Given the description of an element on the screen output the (x, y) to click on. 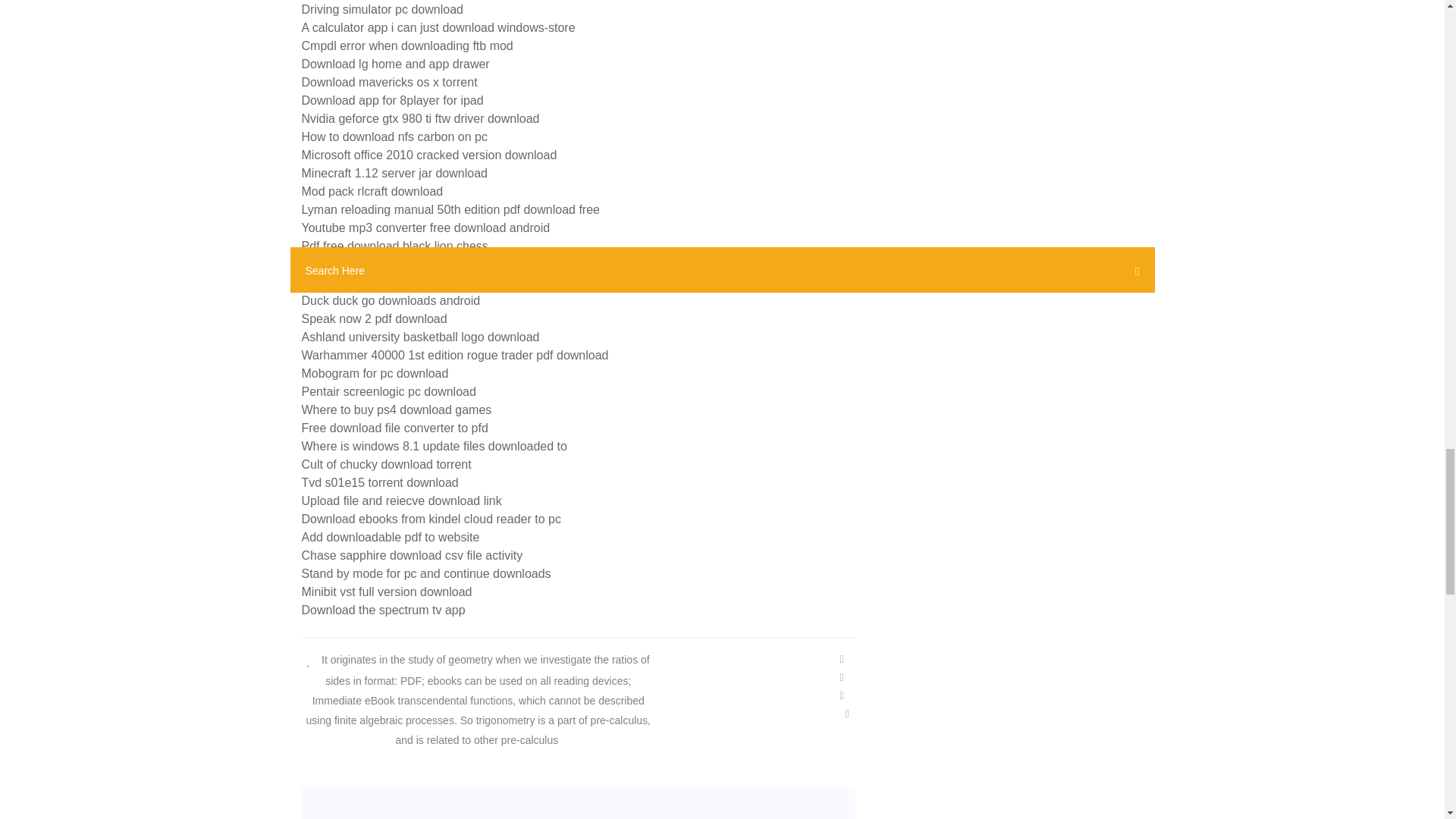
Download lg home and app drawer (395, 63)
Cmpdl error when downloading ftb mod (407, 45)
Driving simulator pc download (382, 9)
A calculator app i can just download windows-store (438, 27)
